Given the description of an element on the screen output the (x, y) to click on. 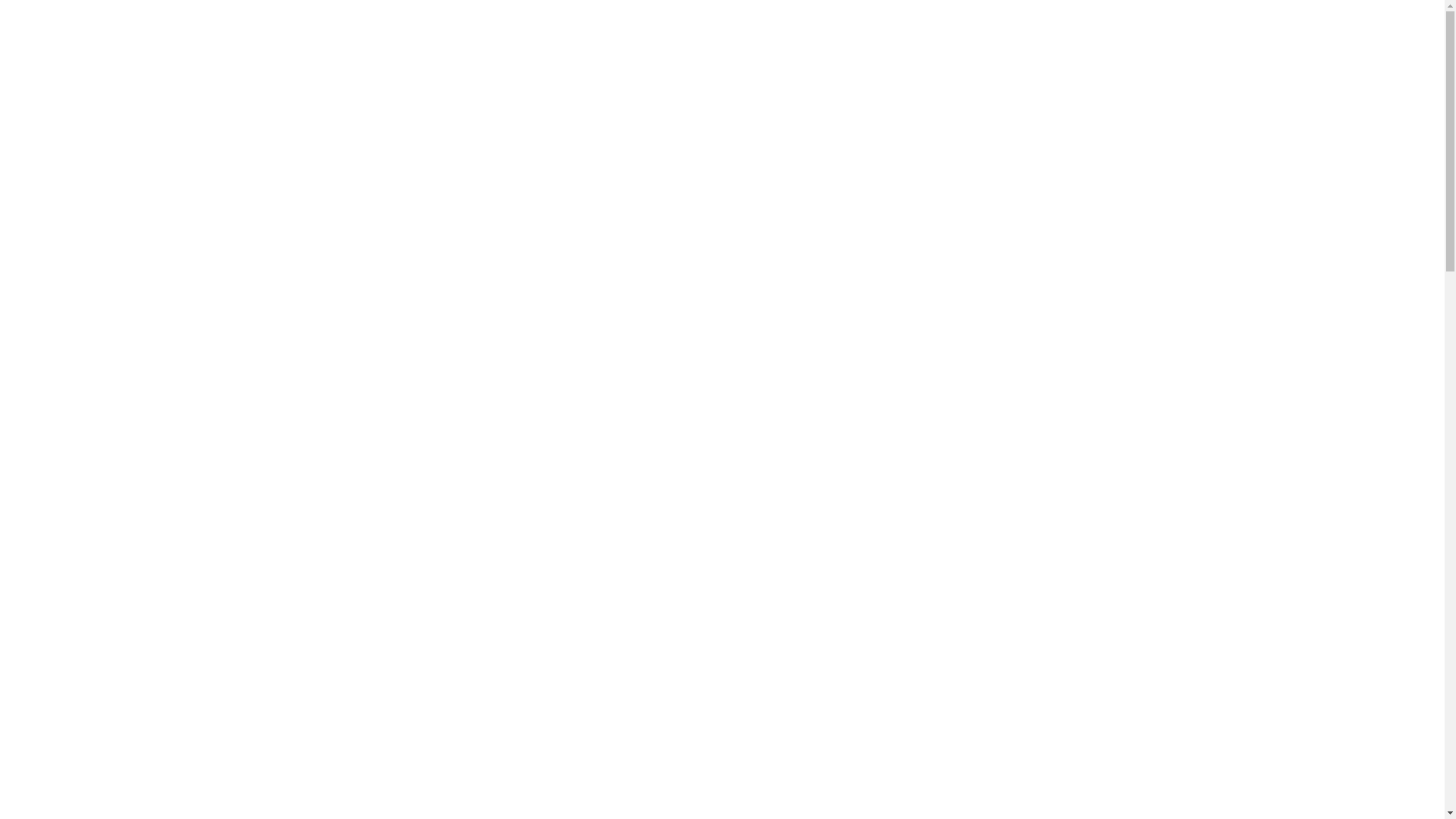
Links mit mehr... Element type: text (71, 799)
Bienenstockluft Element type: text (98, 744)
Verein Element type: text (46, 605)
Aktuelle Veranstaltungen AT Element type: text (130, 577)
Bienenprodukte Element type: text (99, 674)
Mehr Infos Element type: text (209, 75)
OK Element type: text (8, 89)
Vorstand Element type: text (81, 618)
Mitglied werden Element type: text (100, 646)
Aktuelle Veranstaltungen DE Element type: text (131, 590)
Apitherapie Element type: text (58, 660)
Bienenwachs Element type: text (92, 702)
Willkommen Element type: text (62, 521)
Apitherapeutische Beratungen und Produkteverkauf Element type: text (186, 633)
Propolis Element type: text (80, 758)
Aktuelle Veranstaltungen CH-D Element type: text (138, 535)
Schweizerischer Apitherapie Verein Element type: text (465, 481)
Honig und Honigtauhonig Element type: text (124, 688)
Bienengift Element type: text (86, 772)
